Given the description of an element on the screen output the (x, y) to click on. 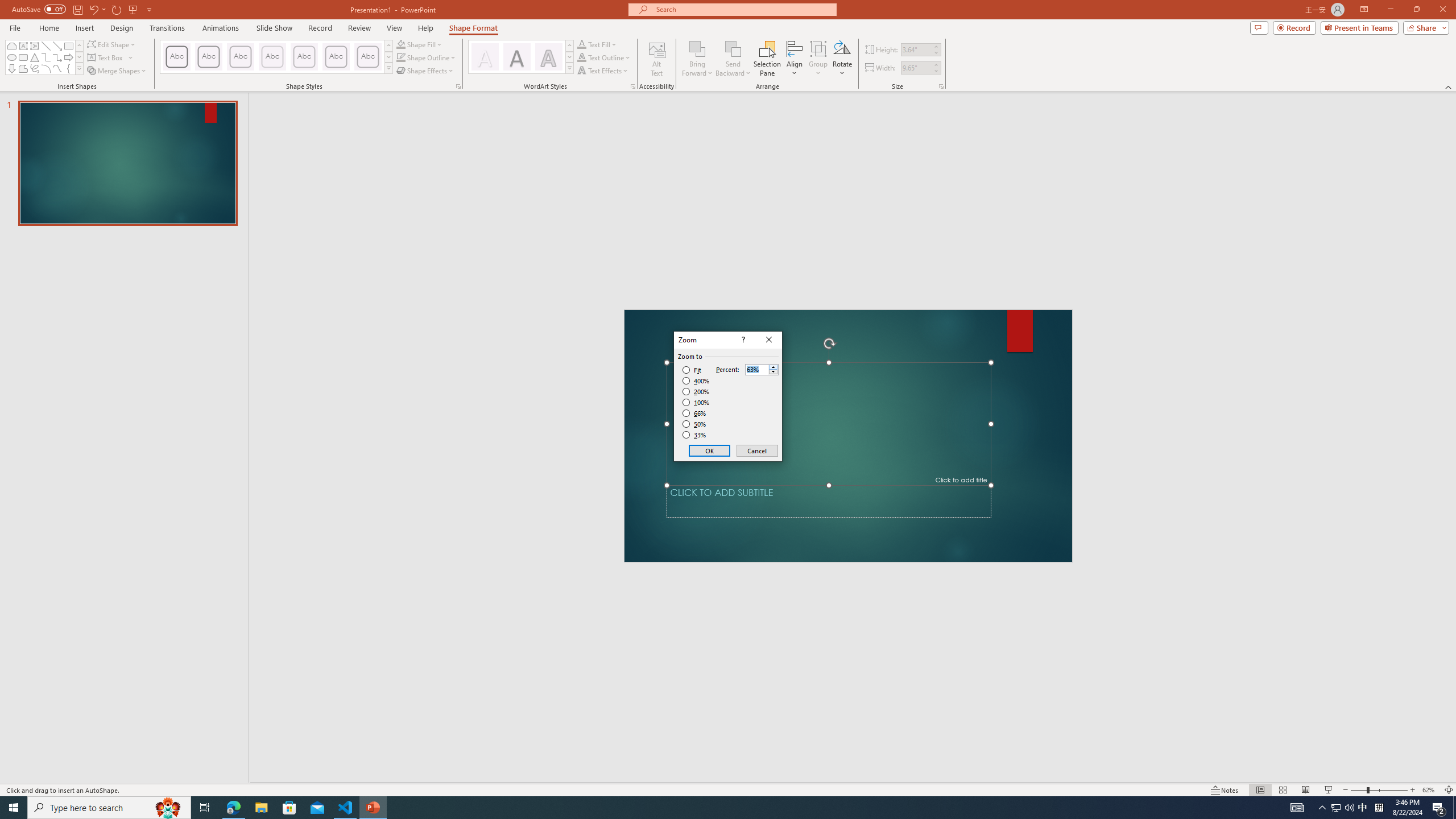
Colored Outline - Blue-Gray, Accent 5 (336, 56)
Colored Outline - Purple, Accent 6 (368, 56)
Colored Outline - Black, Dark 1 (176, 56)
More (772, 366)
Rotate (841, 58)
